Given the description of an element on the screen output the (x, y) to click on. 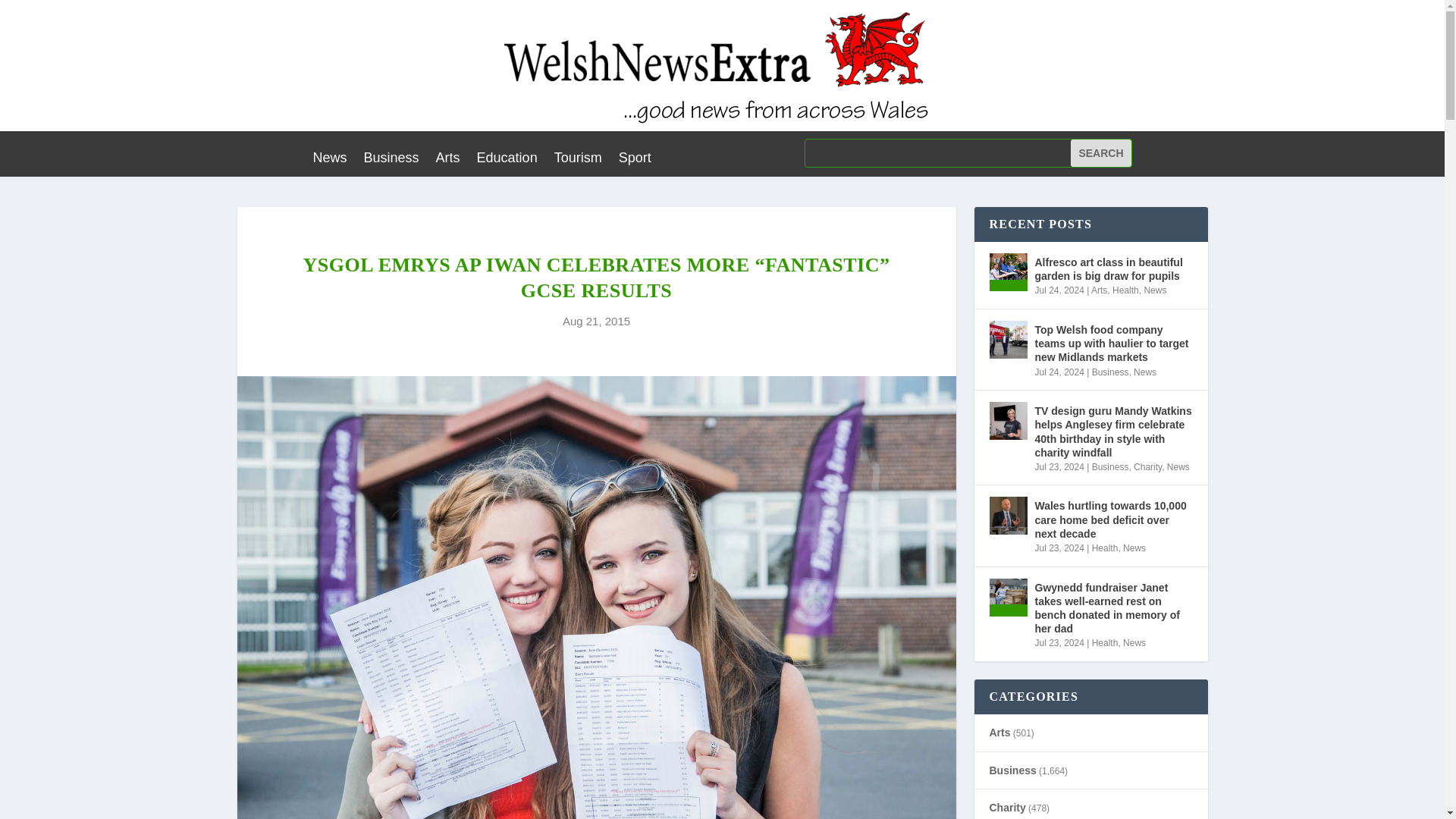
Search (1100, 153)
Search (1100, 153)
Search (1100, 153)
Sport (634, 160)
Arts (447, 160)
Business (391, 160)
logo10 (722, 65)
News (329, 160)
Education (507, 160)
Tourism (578, 160)
